Given the description of an element on the screen output the (x, y) to click on. 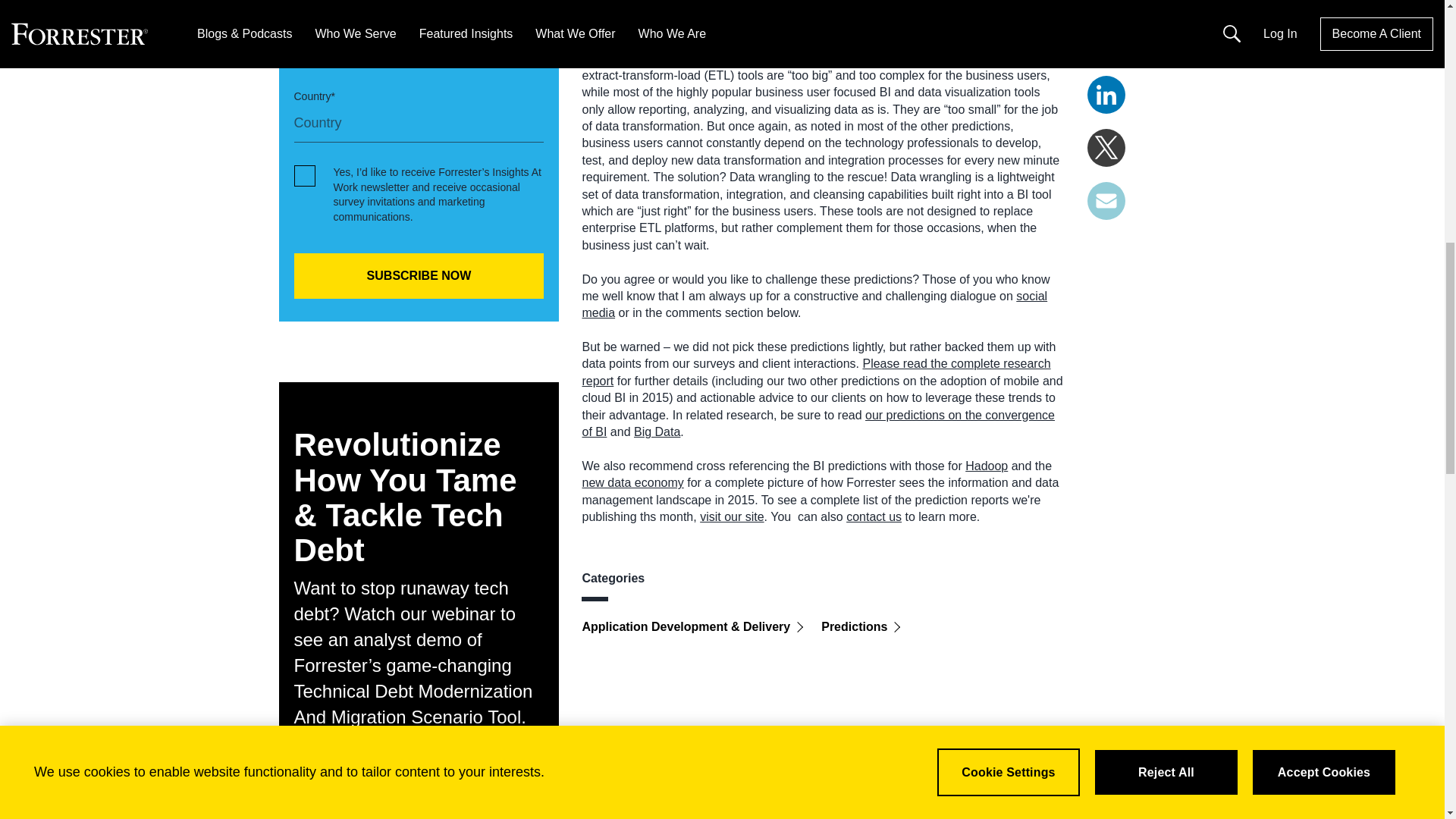
Subscribe Now (419, 275)
